Given the description of an element on the screen output the (x, y) to click on. 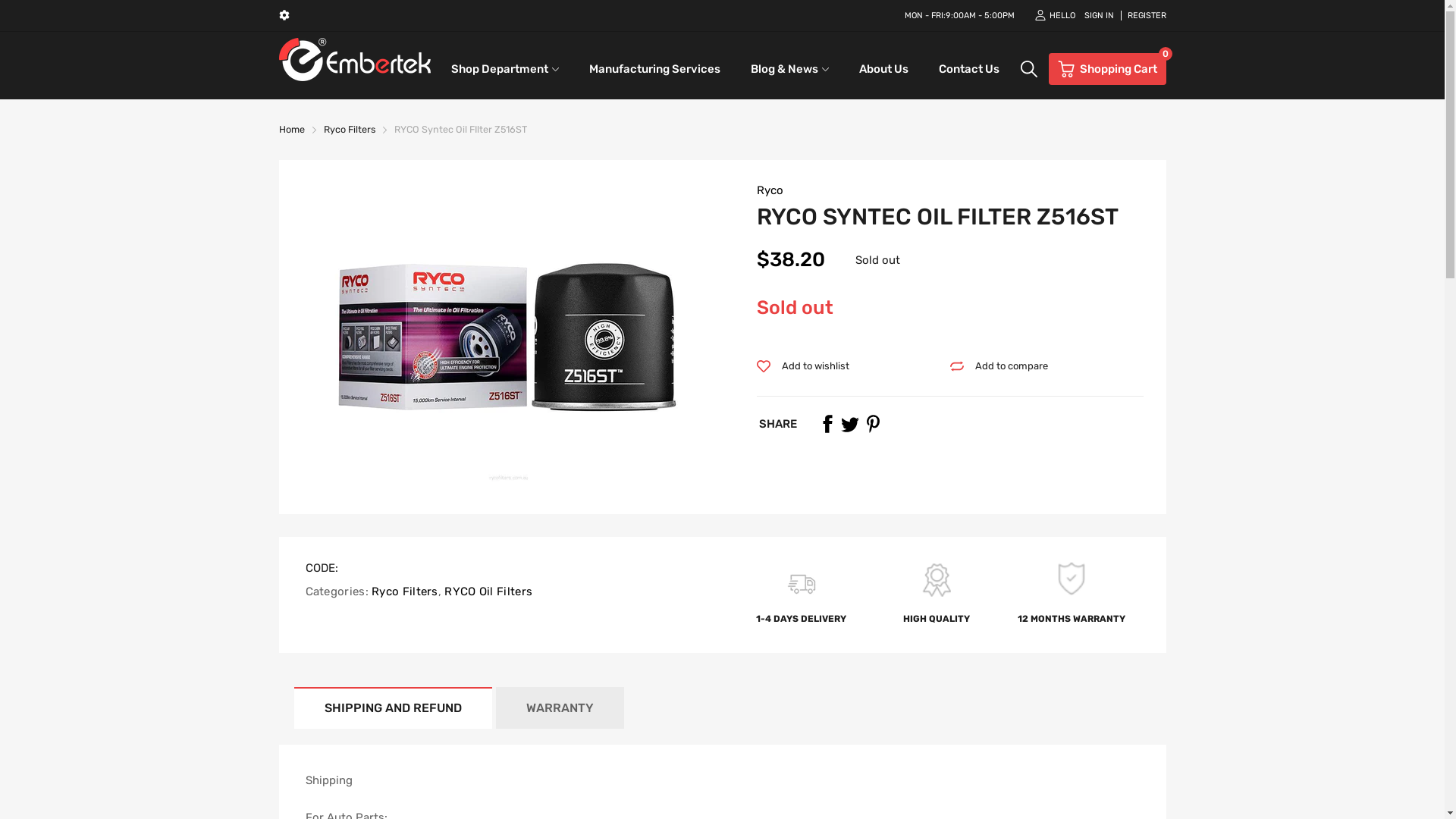
Ryco Element type: text (769, 190)
HELLO Element type: text (1054, 15)
Ryco Filters Element type: text (348, 128)
Manufacturing Services Element type: text (654, 68)
RYCO Oil Filters Element type: text (486, 591)
Shop Department Element type: text (499, 68)
RYCO Syntec Oil FIlter Z516ST Element type: text (460, 128)
Home Element type: text (291, 128)
Contact Us Element type: text (968, 68)
Twitter Element type: hover (849, 423)
REGISTER Element type: text (1143, 15)
Pinterest Element type: hover (871, 423)
About Us Element type: text (883, 68)
Ryco Filters Element type: text (403, 591)
0
Shopping Cart Element type: text (1106, 68)
Facebook Element type: hover (826, 423)
Blog & News Element type: text (784, 68)
SIGN IN Element type: text (1098, 15)
